Given the description of an element on the screen output the (x, y) to click on. 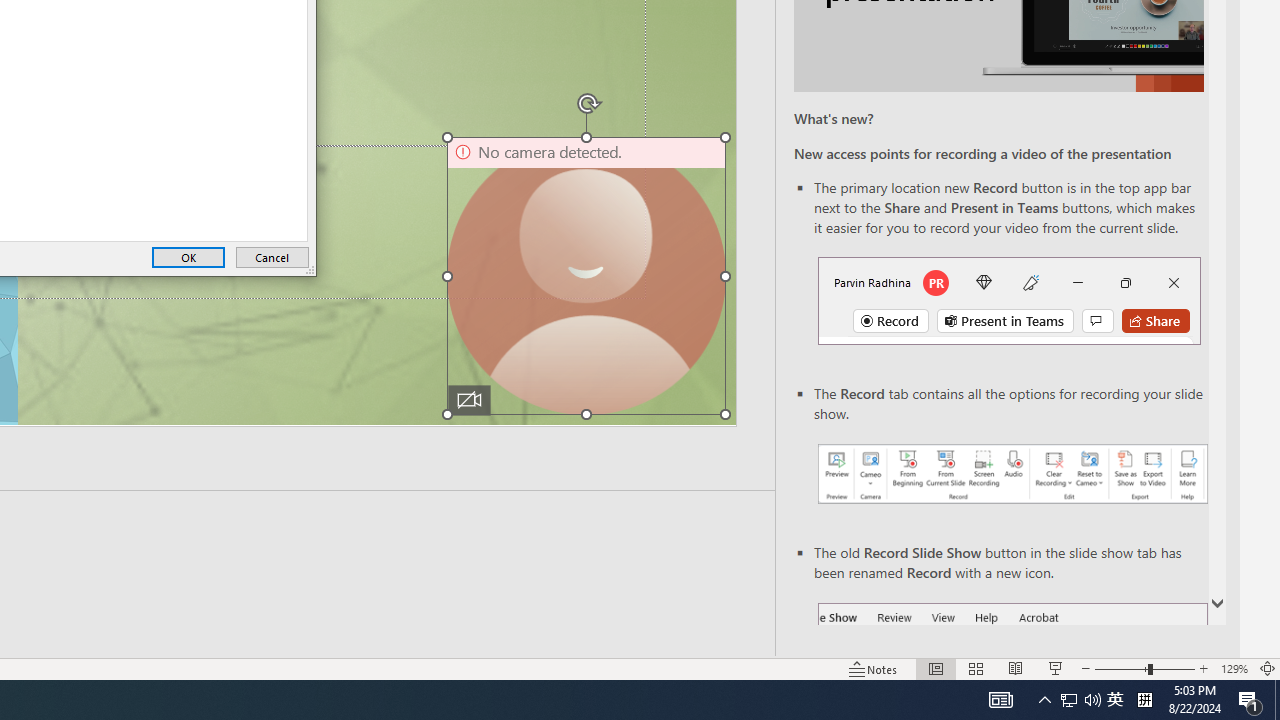
Zoom 129% (1234, 668)
